Given the description of an element on the screen output the (x, y) to click on. 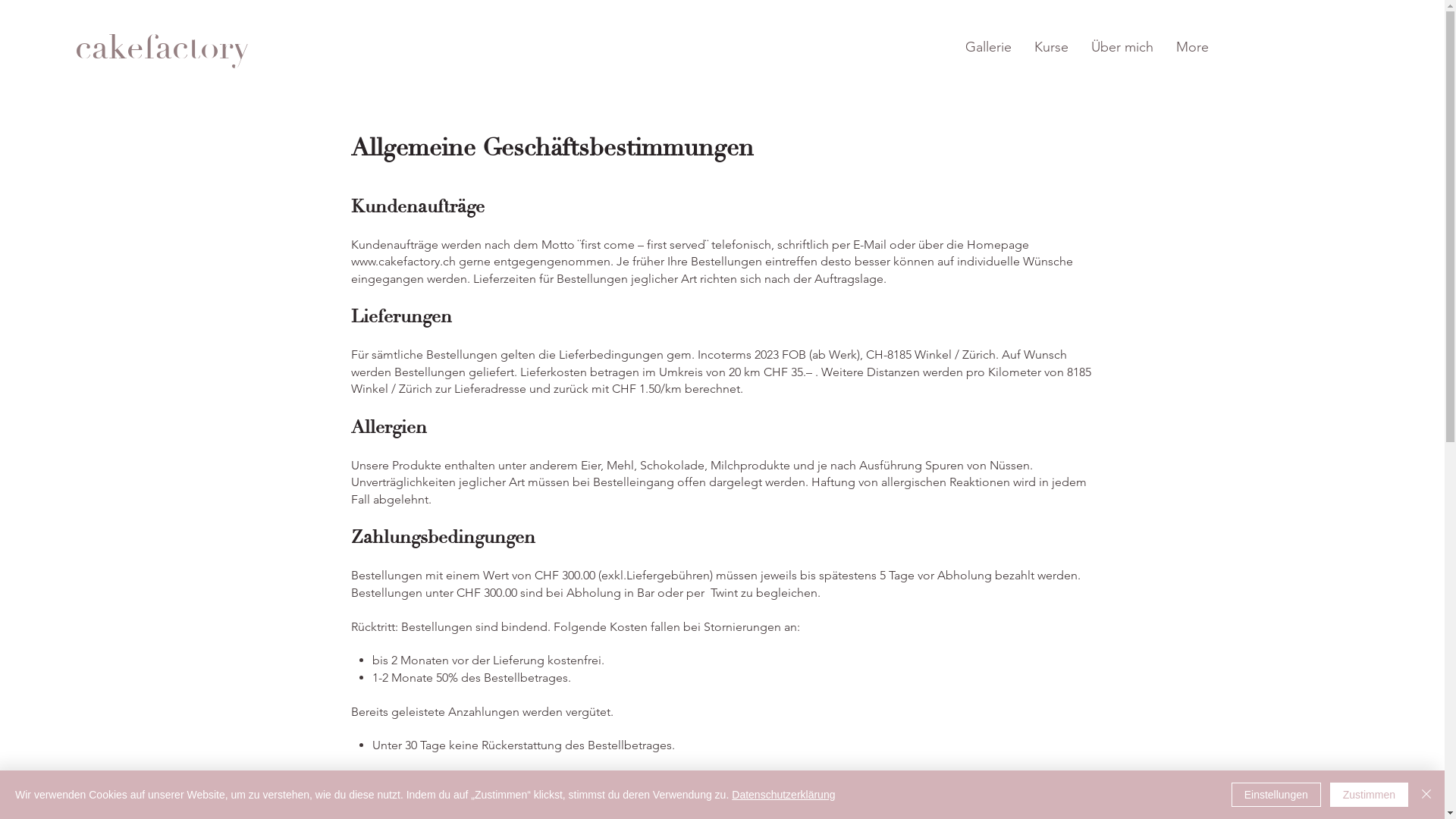
Zustimmen Element type: text (1369, 794)
Einstellungen Element type: text (1276, 794)
cakefactory Element type: text (162, 46)
Kurse Element type: text (1050, 46)
www.cakefactory.ch Element type: text (402, 261)
